Given the description of an element on the screen output the (x, y) to click on. 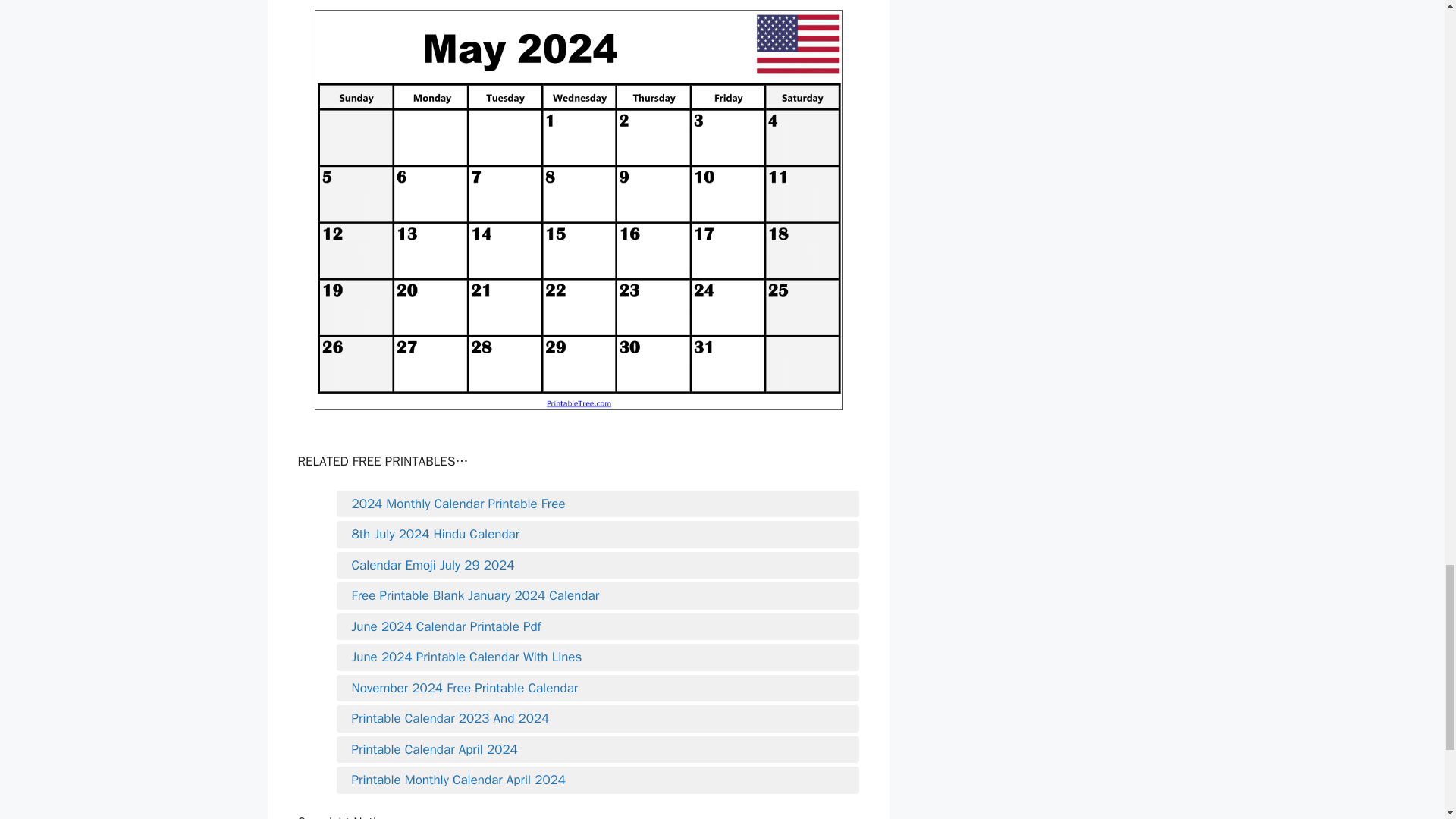
November 2024 Free Printable Calendar (597, 688)
8th July 2024 Hindu Calendar (597, 534)
June 2024 Printable Calendar With Lines (597, 657)
June 2024 Calendar Printable Pdf (597, 626)
Printable Monthly Calendar April 2024 (597, 780)
Printable Calendar 2023 And 2024 (597, 718)
Calendar Emoji July 29 2024 (597, 565)
Printable Calendar April 2024 (597, 749)
Free Printable Blank January 2024 Calendar (597, 595)
2024 Monthly Calendar Printable Free (597, 504)
